Given the description of an element on the screen output the (x, y) to click on. 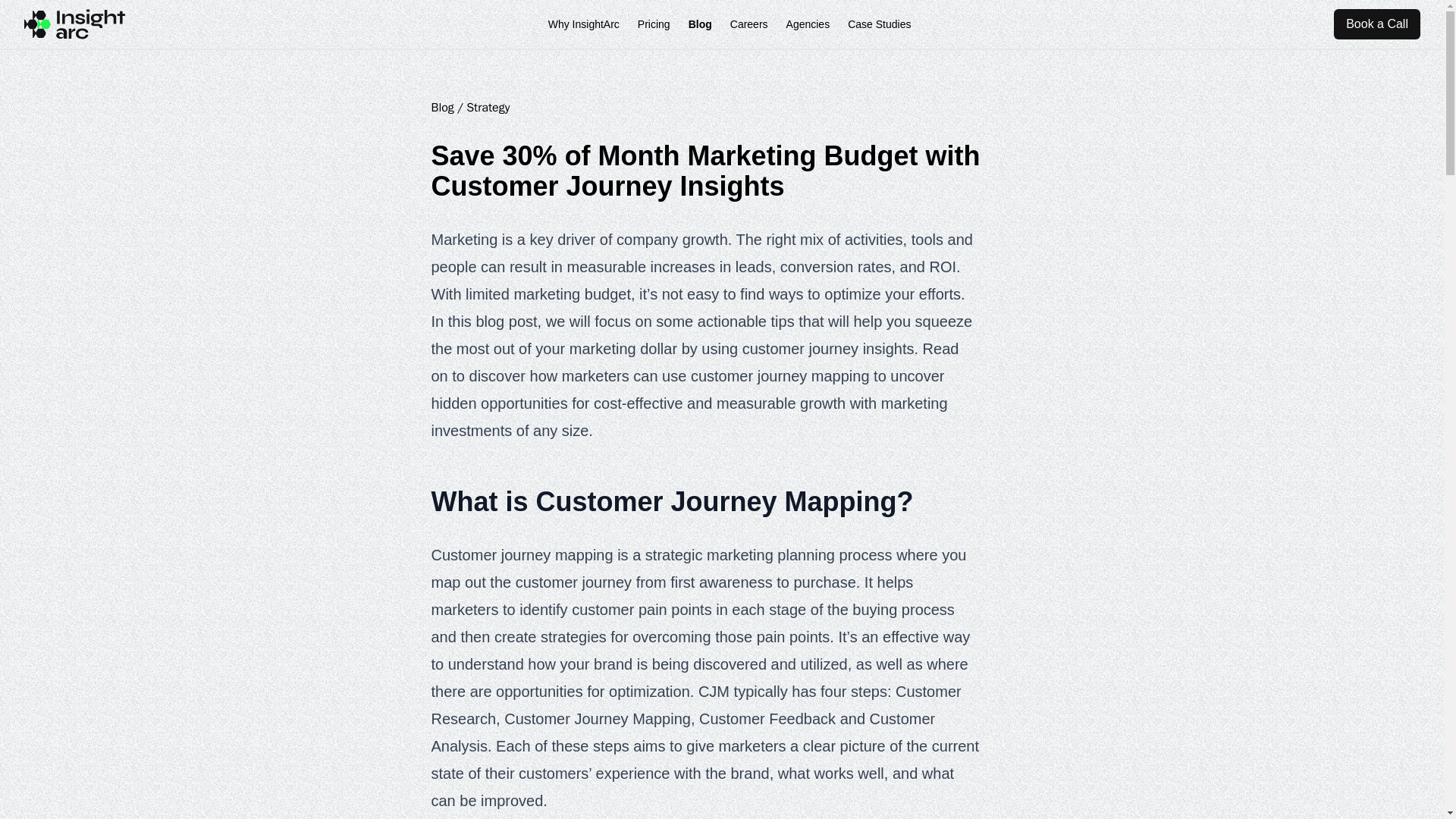
Why InsightArc (584, 24)
Book a Call (1377, 24)
Careers (749, 24)
Blog (441, 107)
Agencies (807, 24)
Case Studies (879, 24)
Strategy (487, 107)
Pricing (653, 24)
Blog (699, 24)
